Given the description of an element on the screen output the (x, y) to click on. 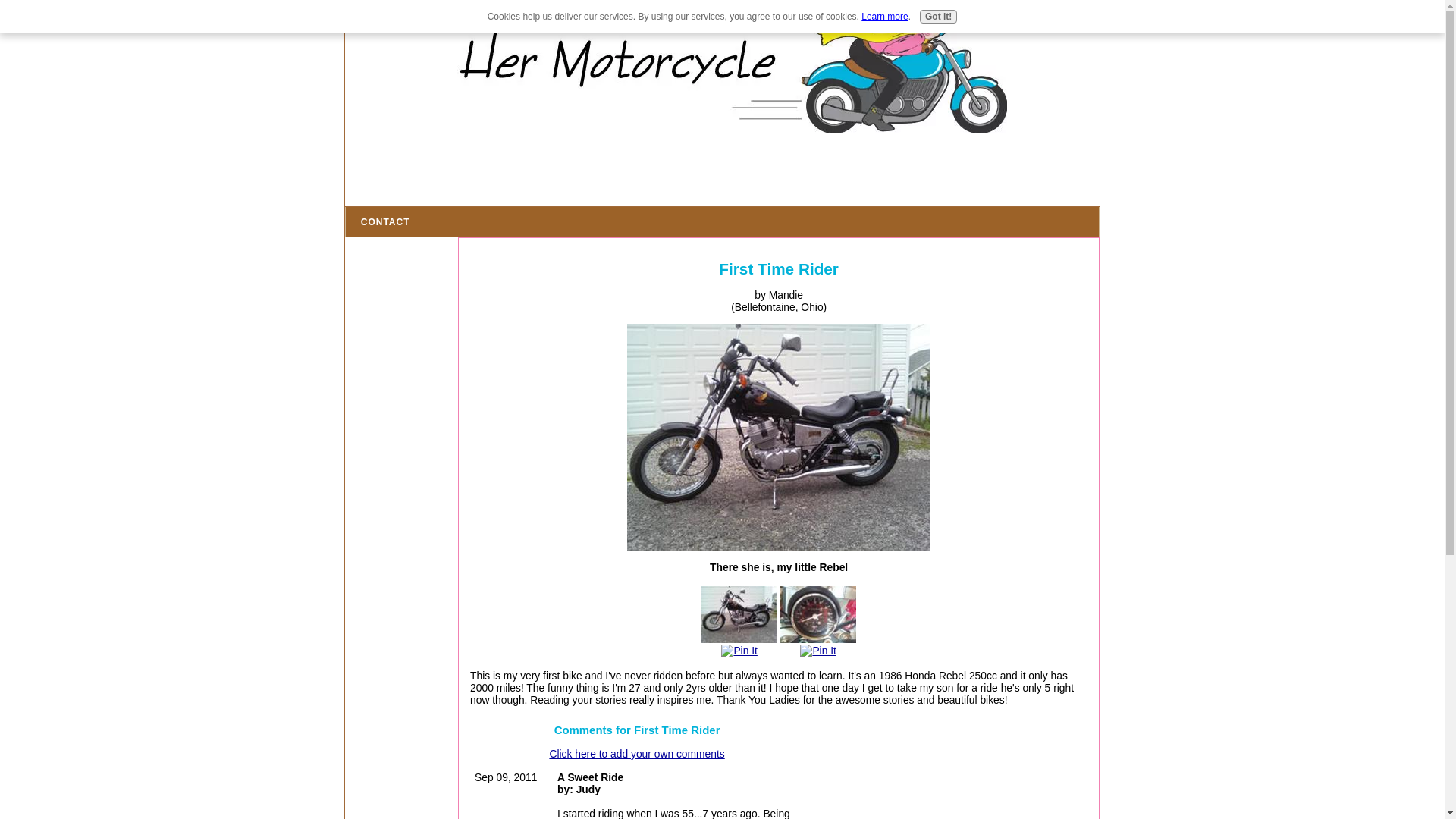
There she is, my little Rebel (739, 614)
Learn more (884, 16)
her-motorcycle.com (722, 68)
Click here to add your own comments (635, 753)
There she is, my little Rebel (778, 437)
CONTACT (385, 221)
Here's the Proof! (818, 614)
Pin It (817, 650)
Pin It (738, 650)
Got it! (938, 16)
